Given the description of an element on the screen output the (x, y) to click on. 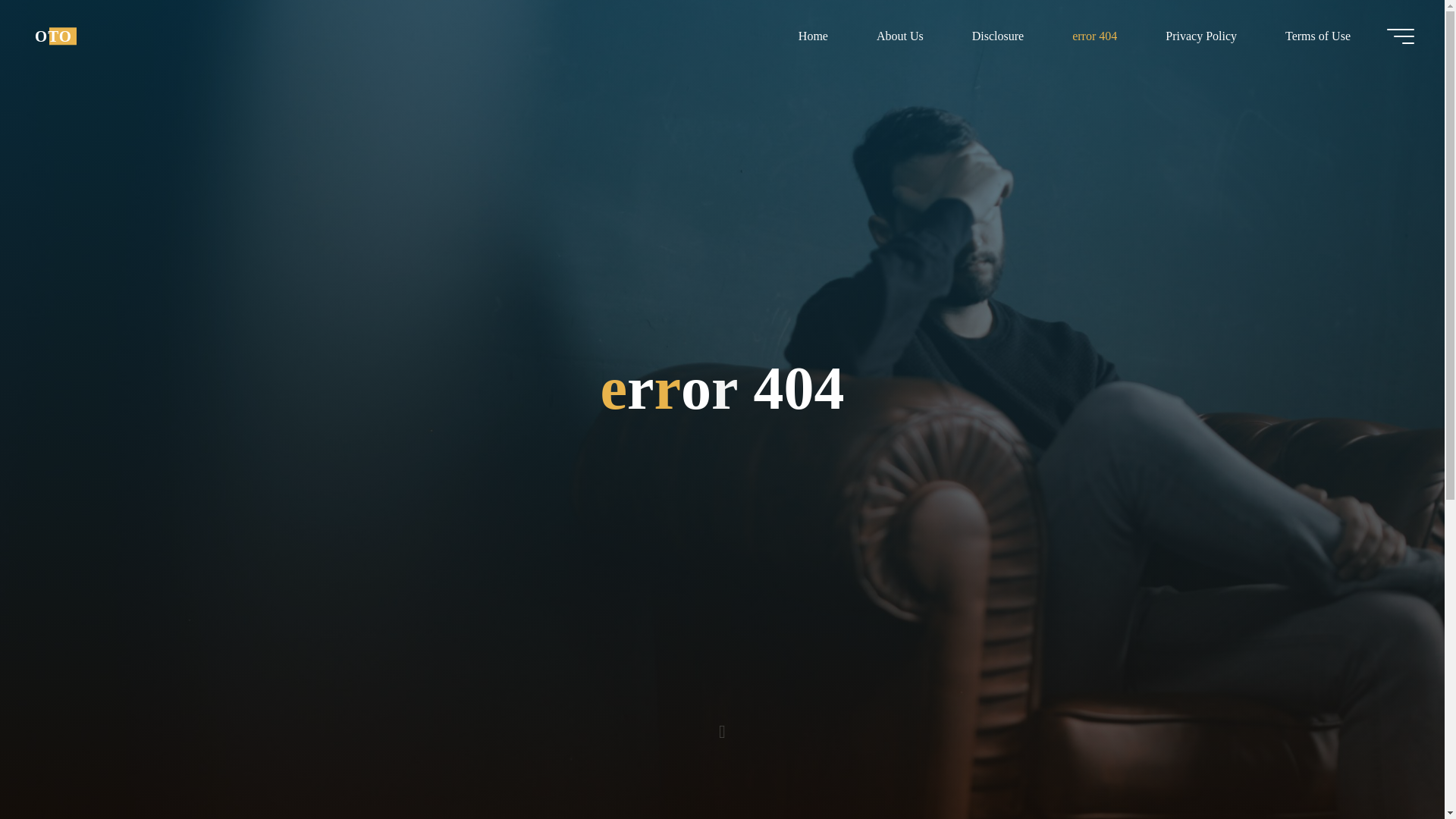
Home (812, 35)
Read more (721, 724)
error 404 (1094, 35)
Privacy Policy (1200, 35)
About Us (899, 35)
OTO (53, 36)
Terms of Use (1317, 35)
Disclosure (997, 35)
